Given the description of an element on the screen output the (x, y) to click on. 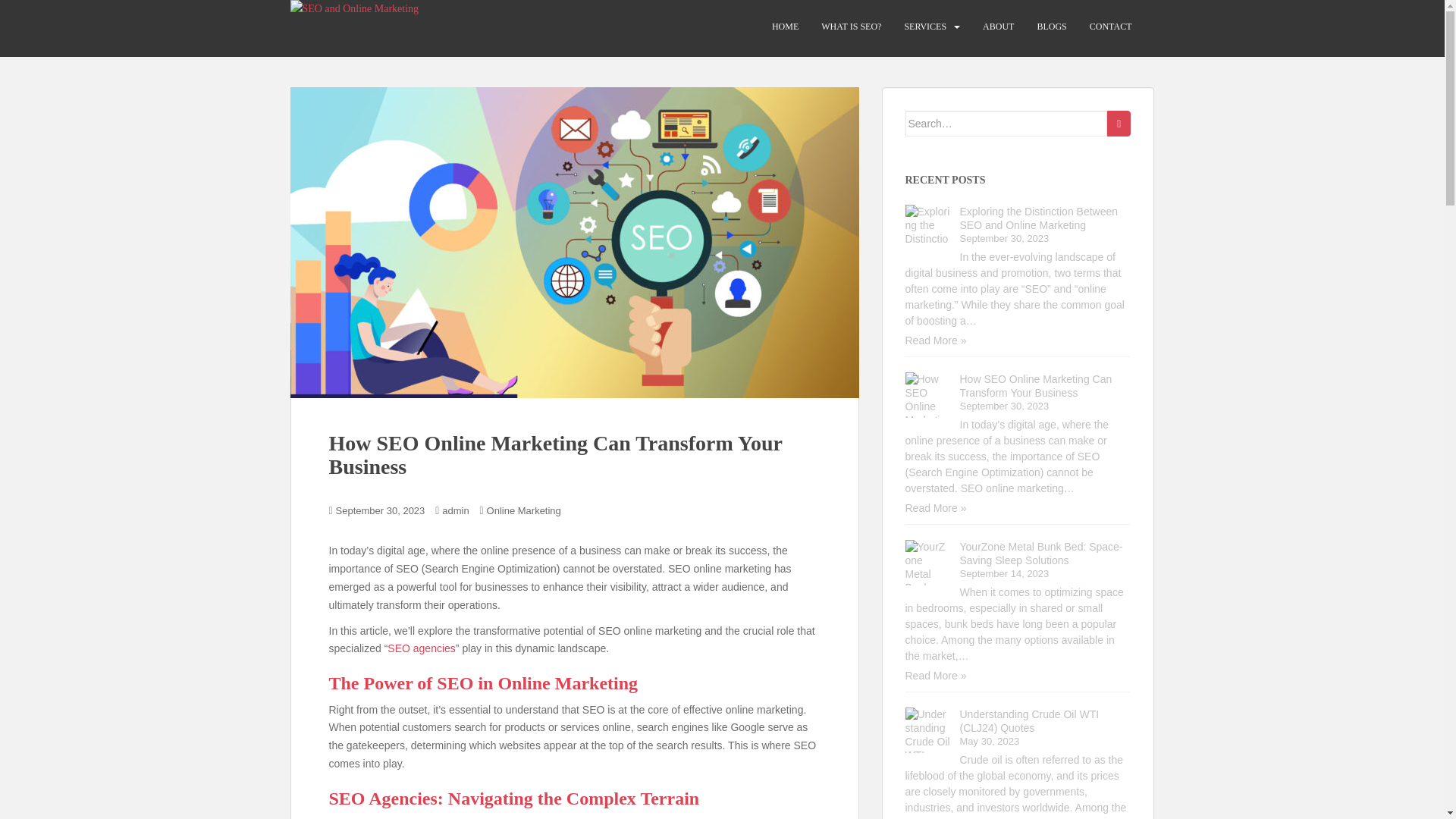
BLOGS (1050, 26)
How SEO Online Marketing Can Transform Your Business (1035, 385)
Online Marketing (523, 510)
Search for: (1006, 123)
September 30, 2023 (380, 510)
ABOUT (997, 26)
Search (1118, 123)
CONTACT (1110, 26)
SERVICES (925, 26)
WHAT IS SEO? (850, 26)
SEO agencies (421, 648)
YourZone Metal Bunk Bed: Space-Saving Sleep Solutions (1040, 553)
admin (455, 510)
Exploring the Distinction Between SEO and Online Marketing (1038, 217)
